Given the description of an element on the screen output the (x, y) to click on. 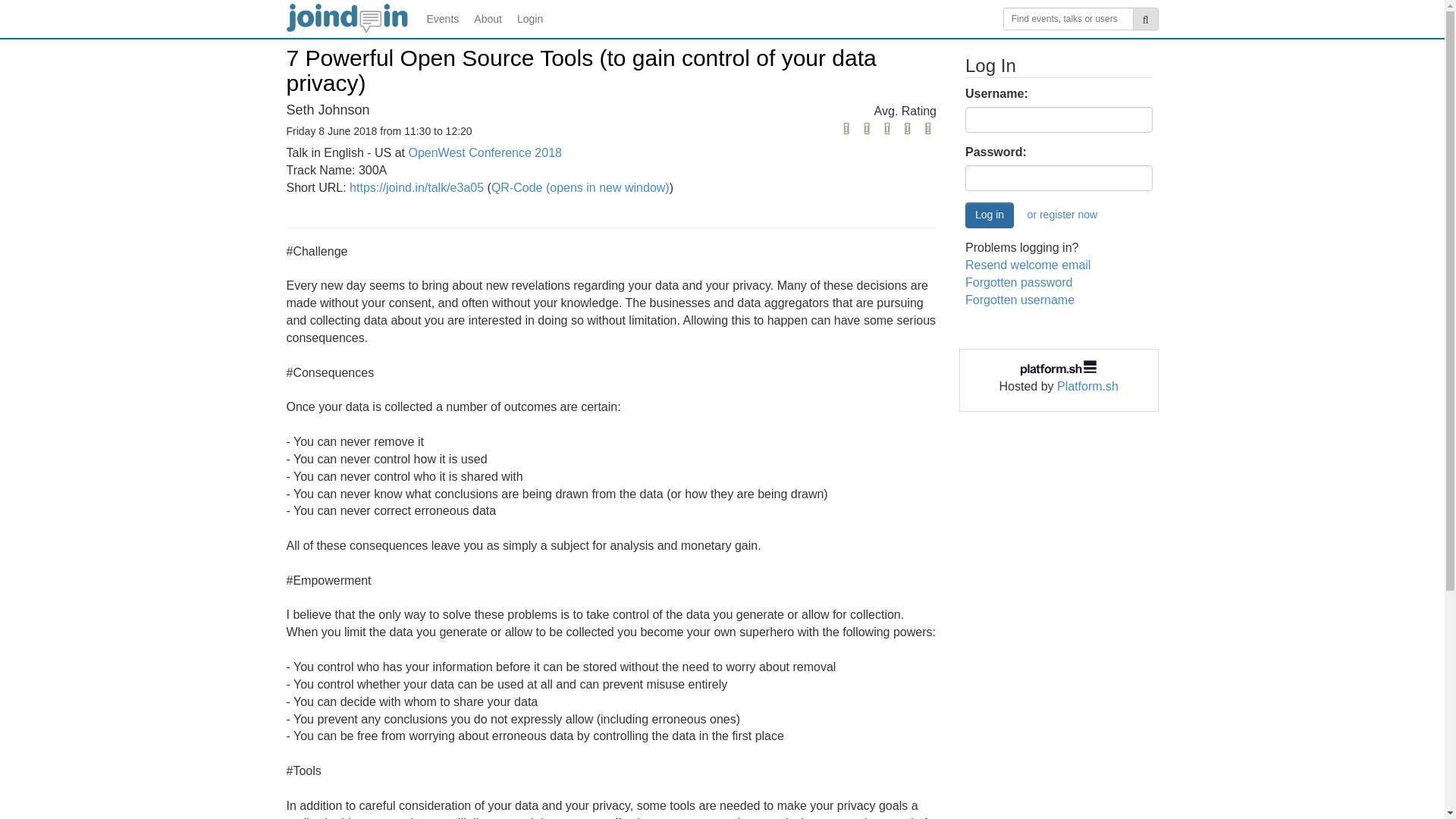
Events (442, 18)
or register now (1062, 215)
OpenWest Conference 2018 (484, 152)
Log in (989, 215)
Login (529, 18)
Rated 5 (832, 129)
Resend welcome email (1027, 264)
Log in (989, 215)
About (487, 18)
Forgotten username (1019, 299)
Platform.sh (1087, 386)
Forgotten password (1018, 282)
